Given the description of an element on the screen output the (x, y) to click on. 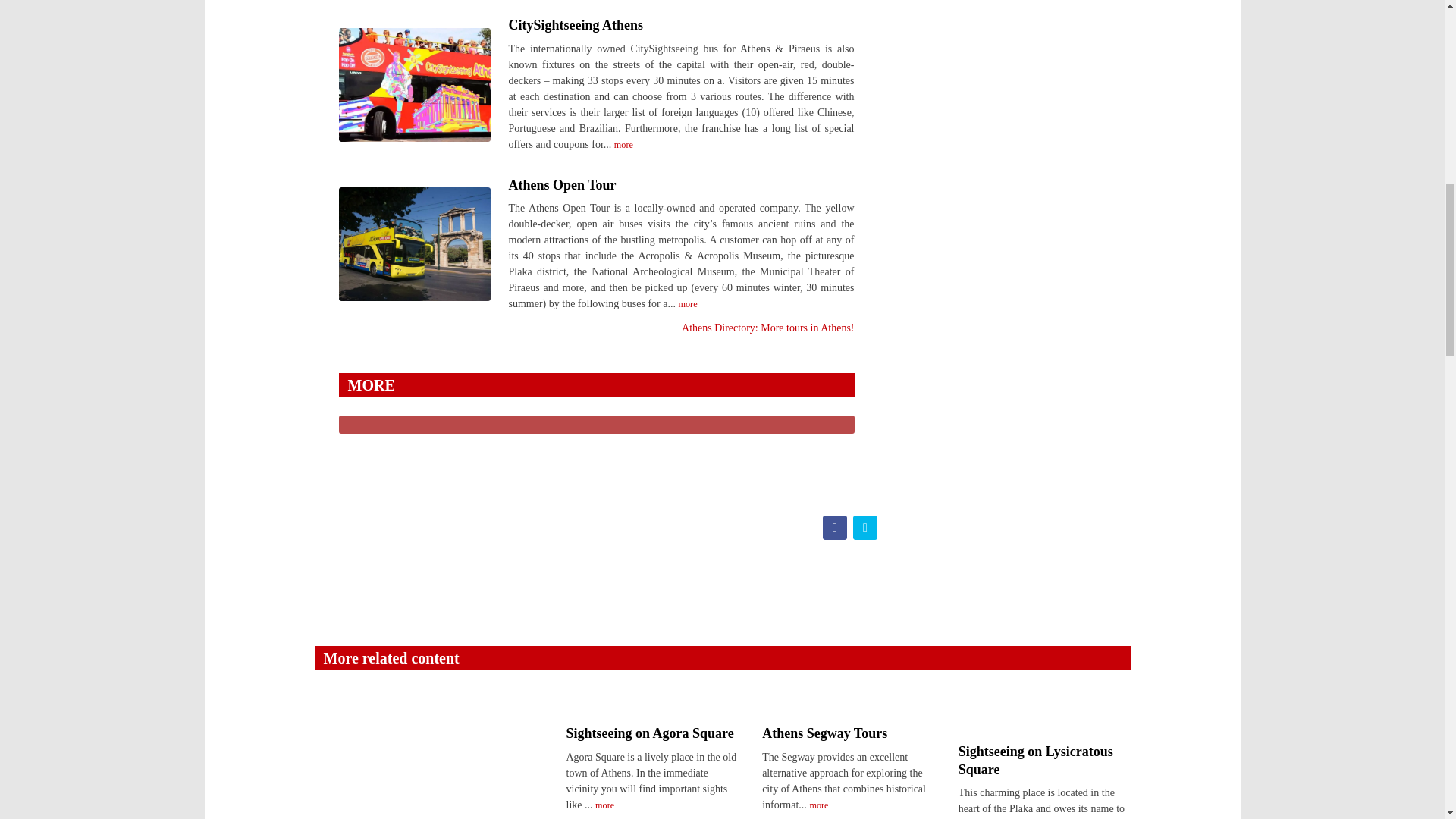
Advertisement (1040, 29)
